Given the description of an element on the screen output the (x, y) to click on. 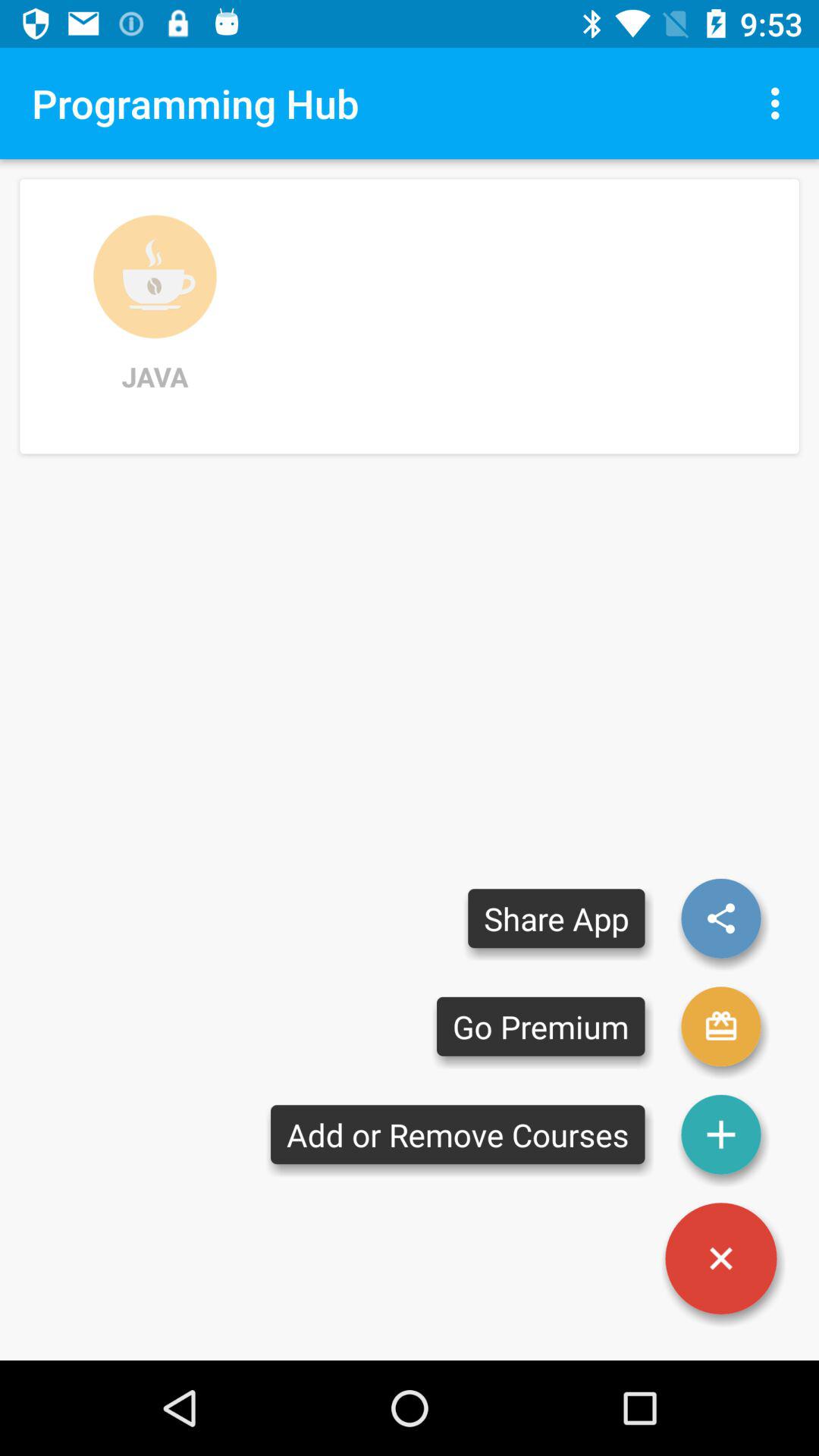
upgrade account to premium (721, 1026)
